Given the description of an element on the screen output the (x, y) to click on. 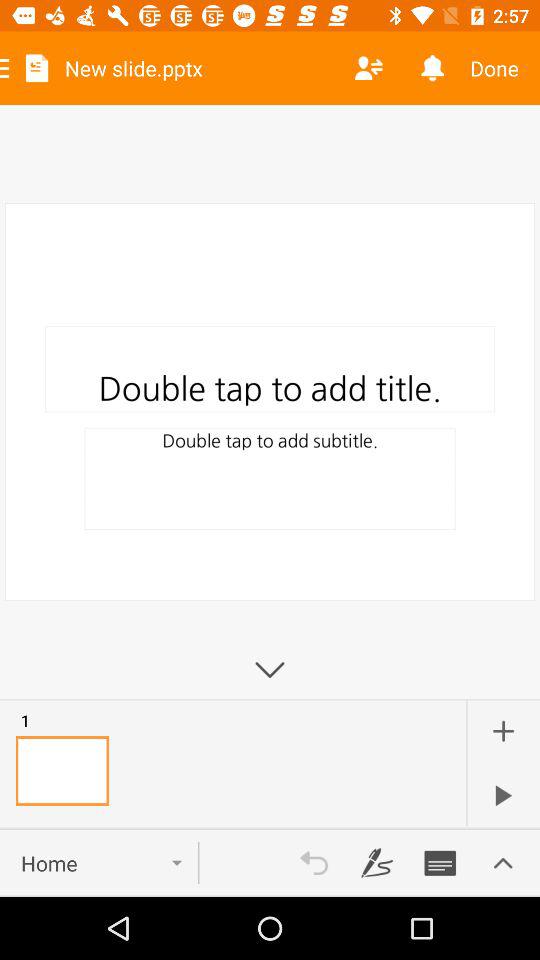
add new slide (503, 731)
